Given the description of an element on the screen output the (x, y) to click on. 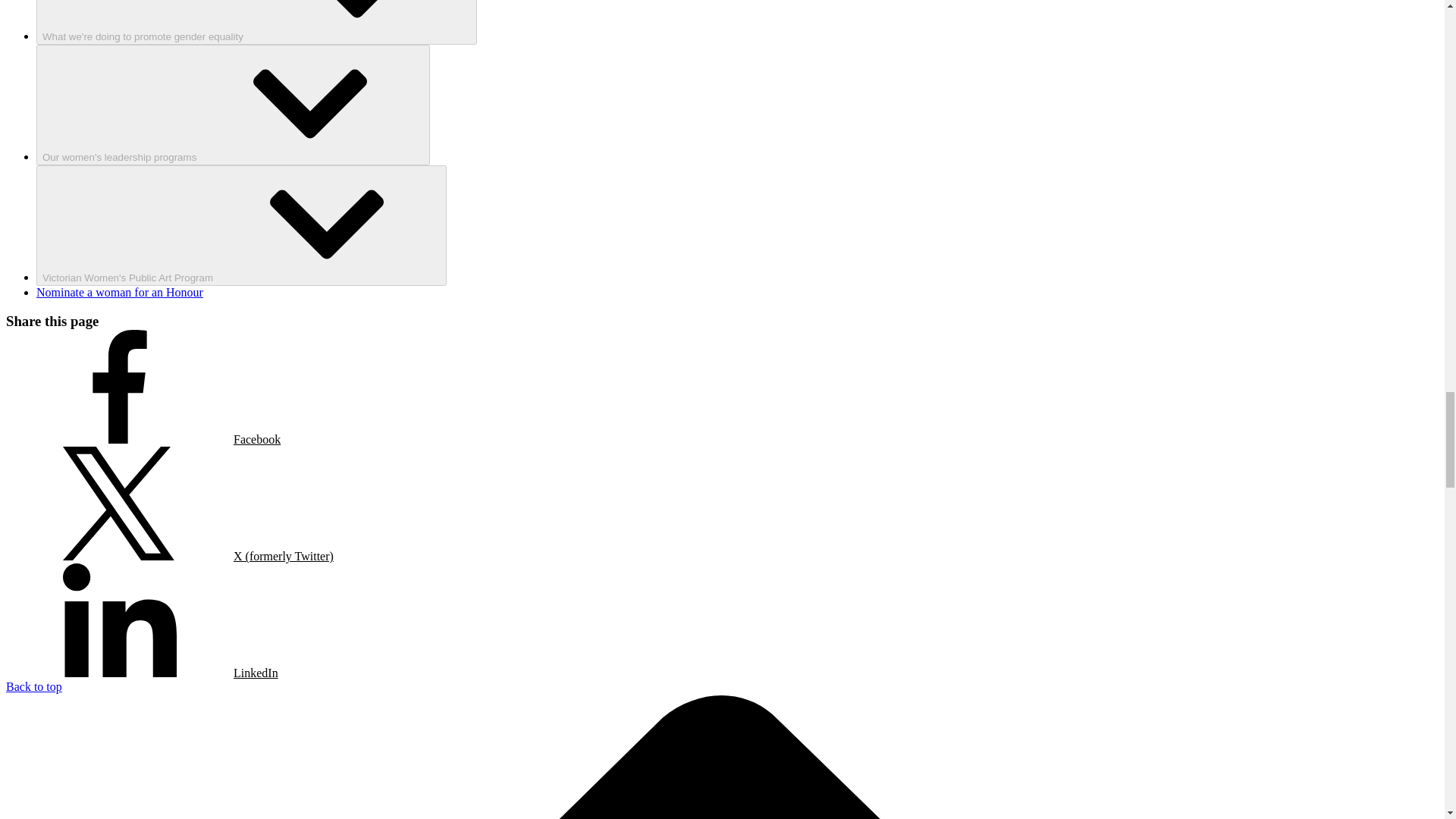
Victorian Women's Public Art Program (241, 225)
What we're doing to promote gender equality (256, 22)
Our women's leadership programs (232, 105)
